Given the description of an element on the screen output the (x, y) to click on. 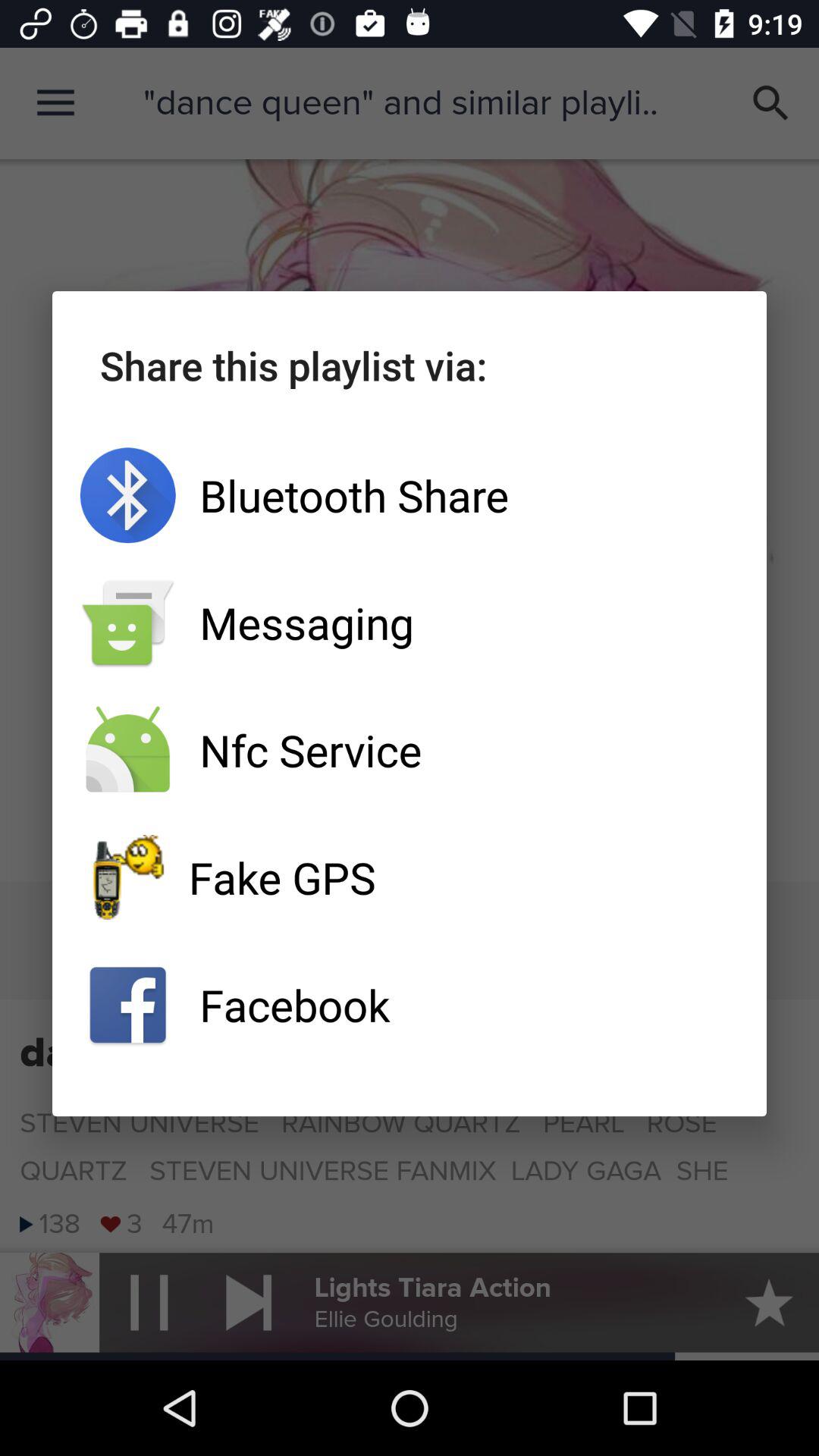
choose the icon above the messaging (409, 495)
